Given the description of an element on the screen output the (x, y) to click on. 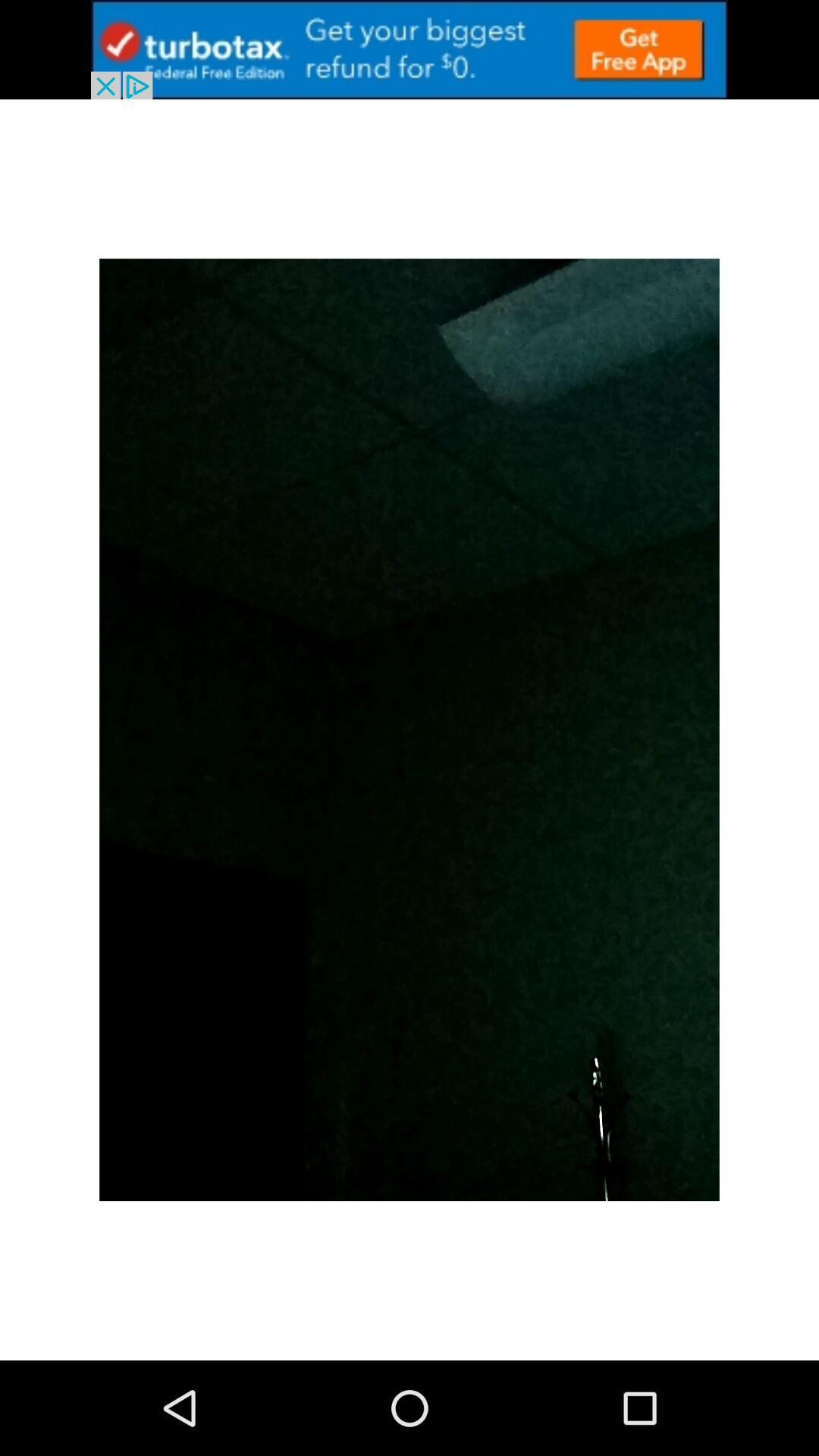
advertisement option (409, 49)
